Given the description of an element on the screen output the (x, y) to click on. 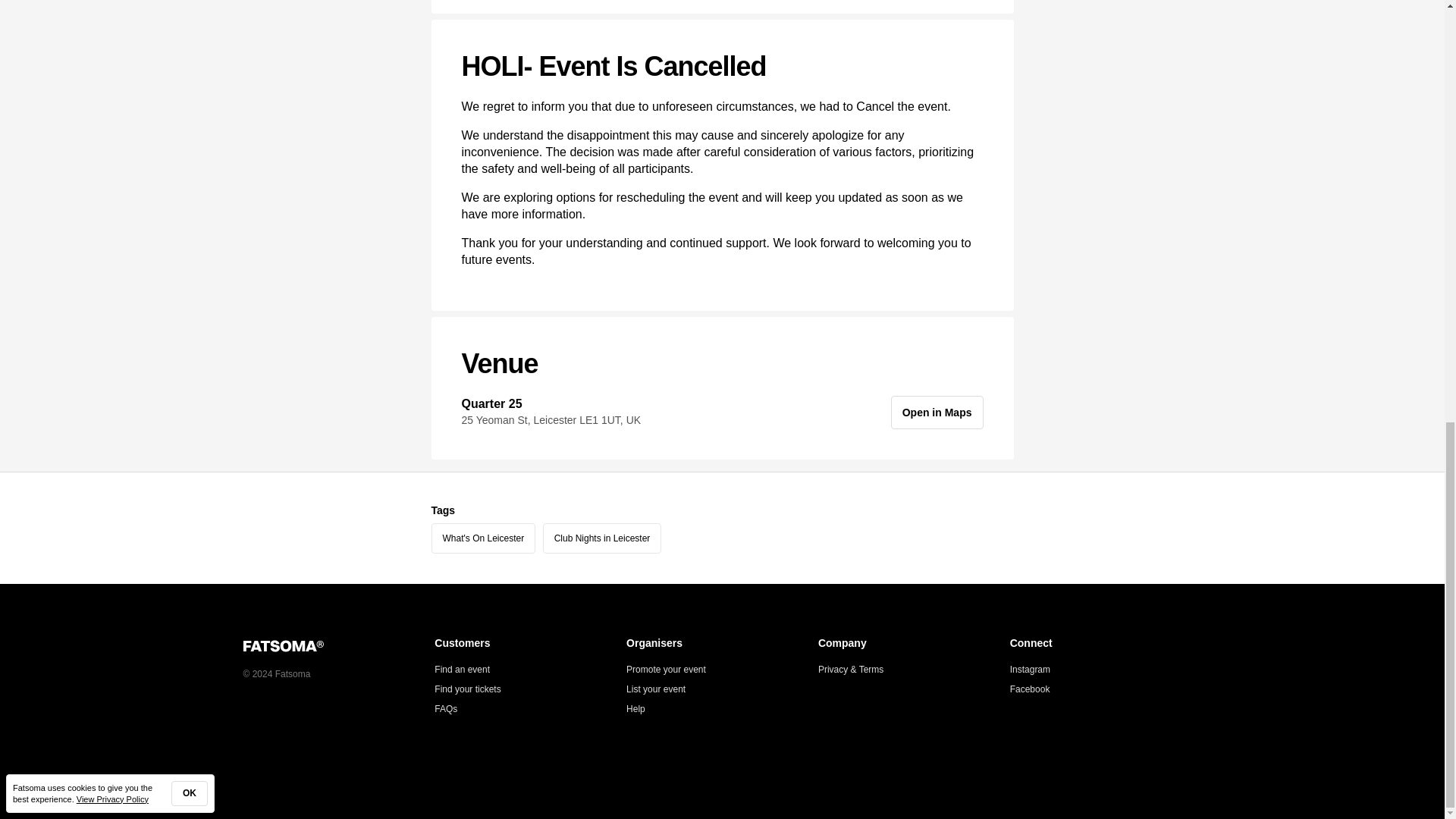
Promote your event (666, 669)
Help (635, 708)
Club Nights in Leicester (602, 538)
What's On Leicester (482, 538)
FAQs (445, 708)
Open in Maps (937, 412)
Find an event (461, 669)
Fatsoma (338, 645)
Find your tickets (466, 688)
Fatsoma (283, 645)
